Given the description of an element on the screen output the (x, y) to click on. 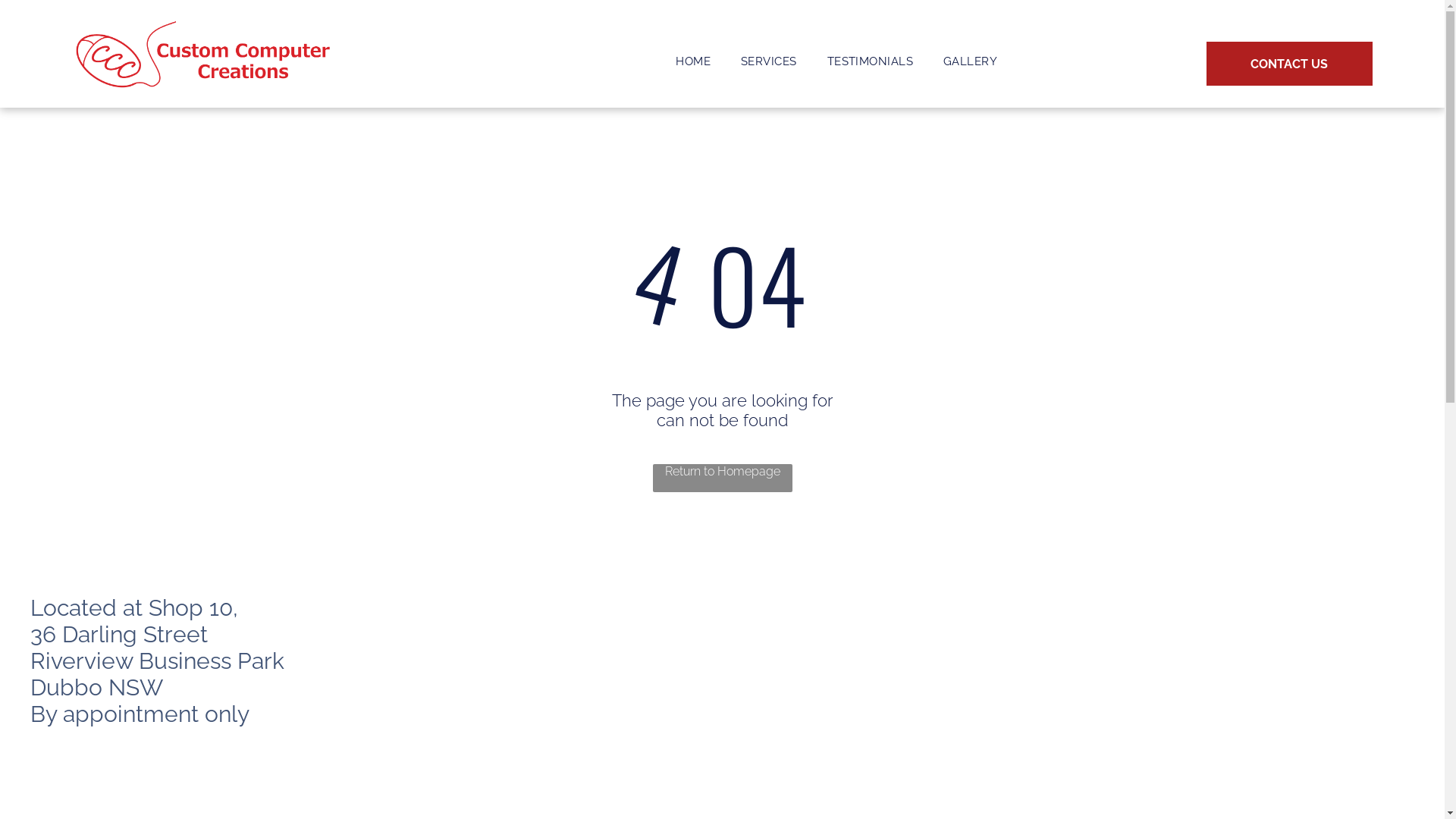
Return to Homepage Element type: text (721, 478)
TESTIMONIALS Element type: text (870, 61)
HOME Element type: text (692, 61)
SERVICES Element type: text (768, 61)
CONTACT US Element type: text (1289, 63)
GALLERY Element type: text (970, 61)
